Given the description of an element on the screen output the (x, y) to click on. 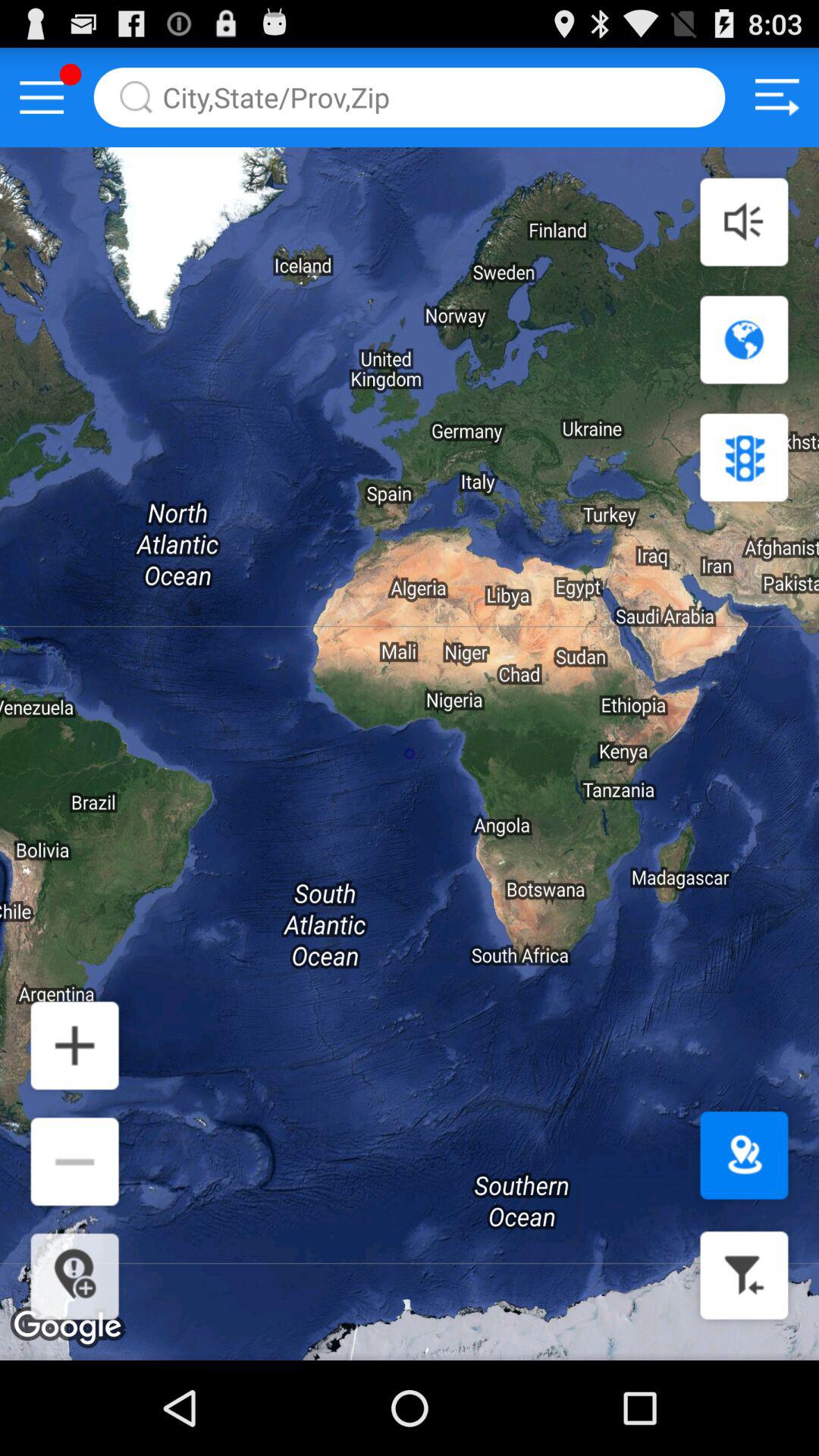
click to zoom out (74, 1161)
